Given the description of an element on the screen output the (x, y) to click on. 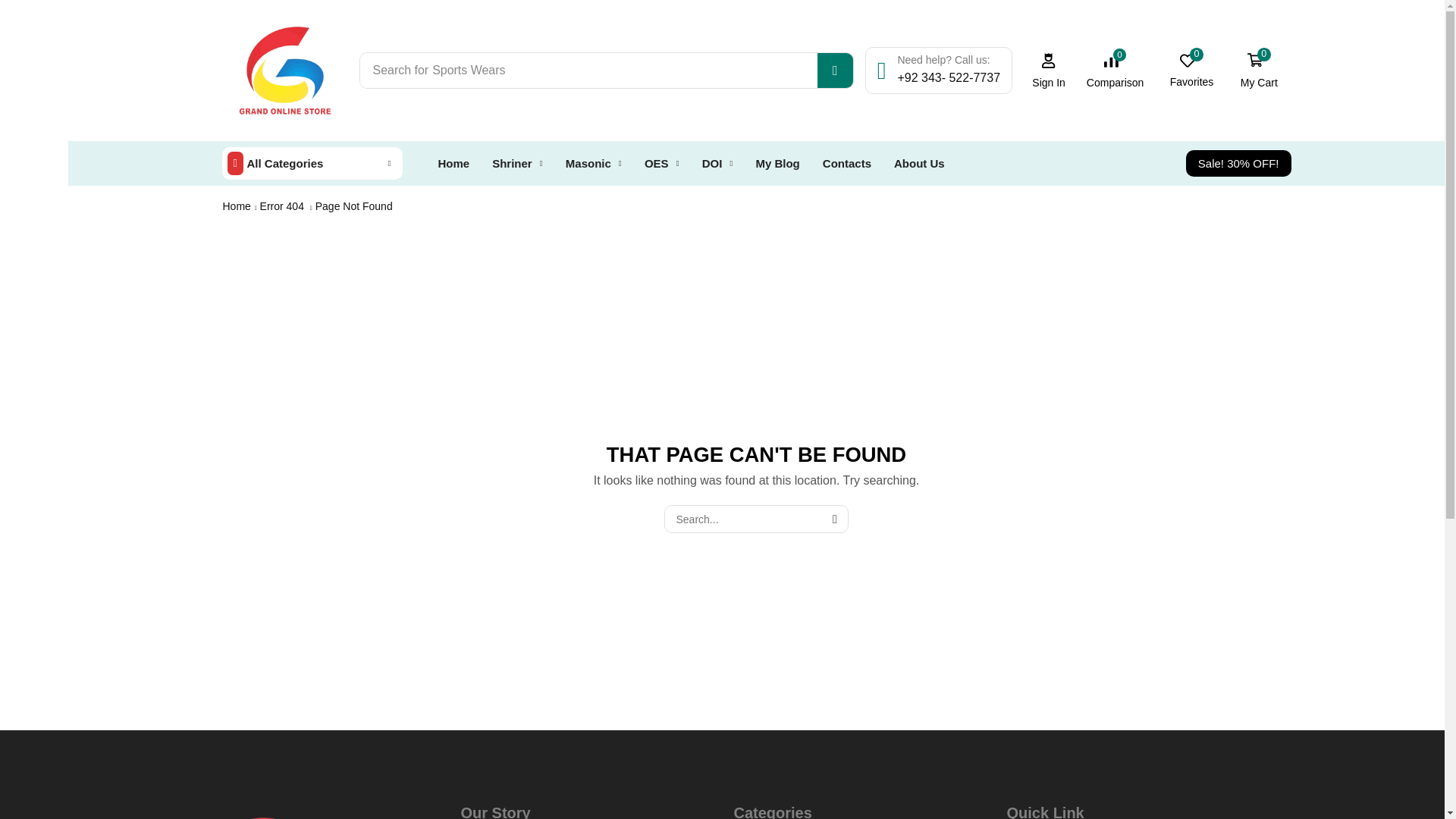
Sign In (1258, 69)
Login (1048, 70)
Search (1115, 70)
